Given the description of an element on the screen output the (x, y) to click on. 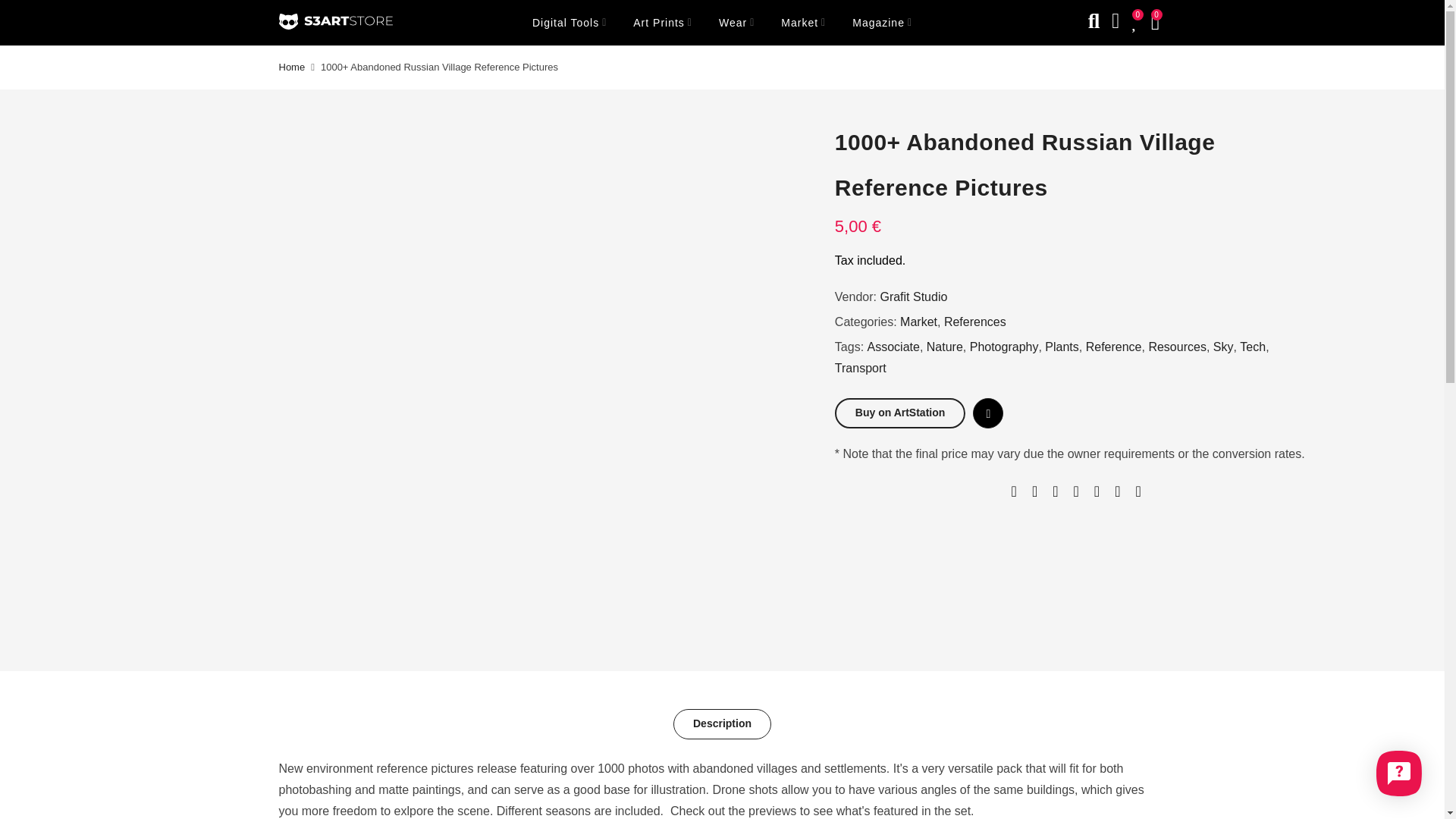
Art Prints (663, 22)
Wear (735, 22)
Grafit Studio (913, 296)
Digital Tools (569, 22)
Market (804, 22)
